Given the description of an element on the screen output the (x, y) to click on. 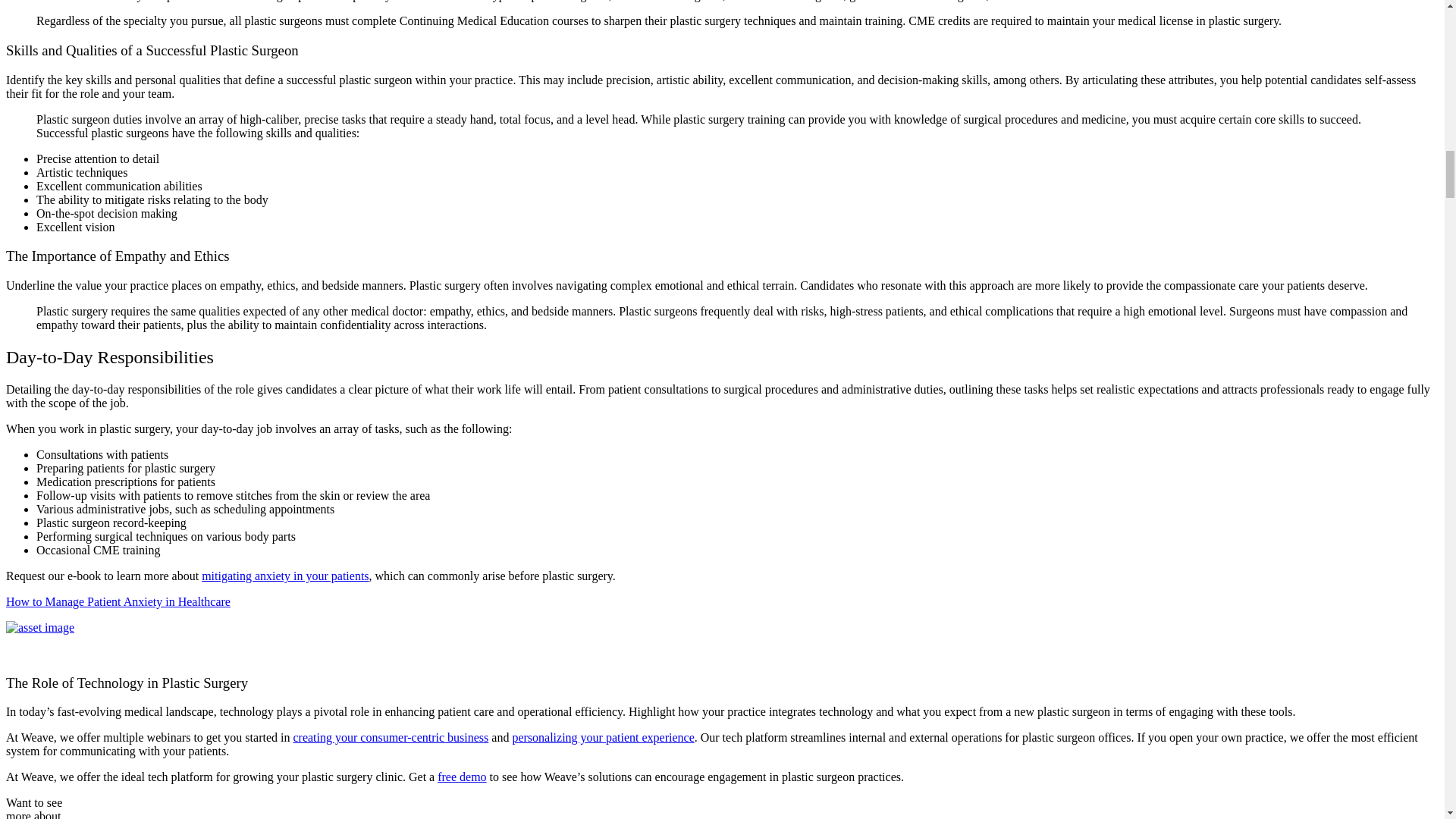
How to Manage Patient Anxiety in Healthcare (117, 601)
mitigating anxiety in your patients (285, 575)
personalizing your patient experience (603, 737)
free demo (462, 776)
creating your consumer-centric business (389, 737)
